Given the description of an element on the screen output the (x, y) to click on. 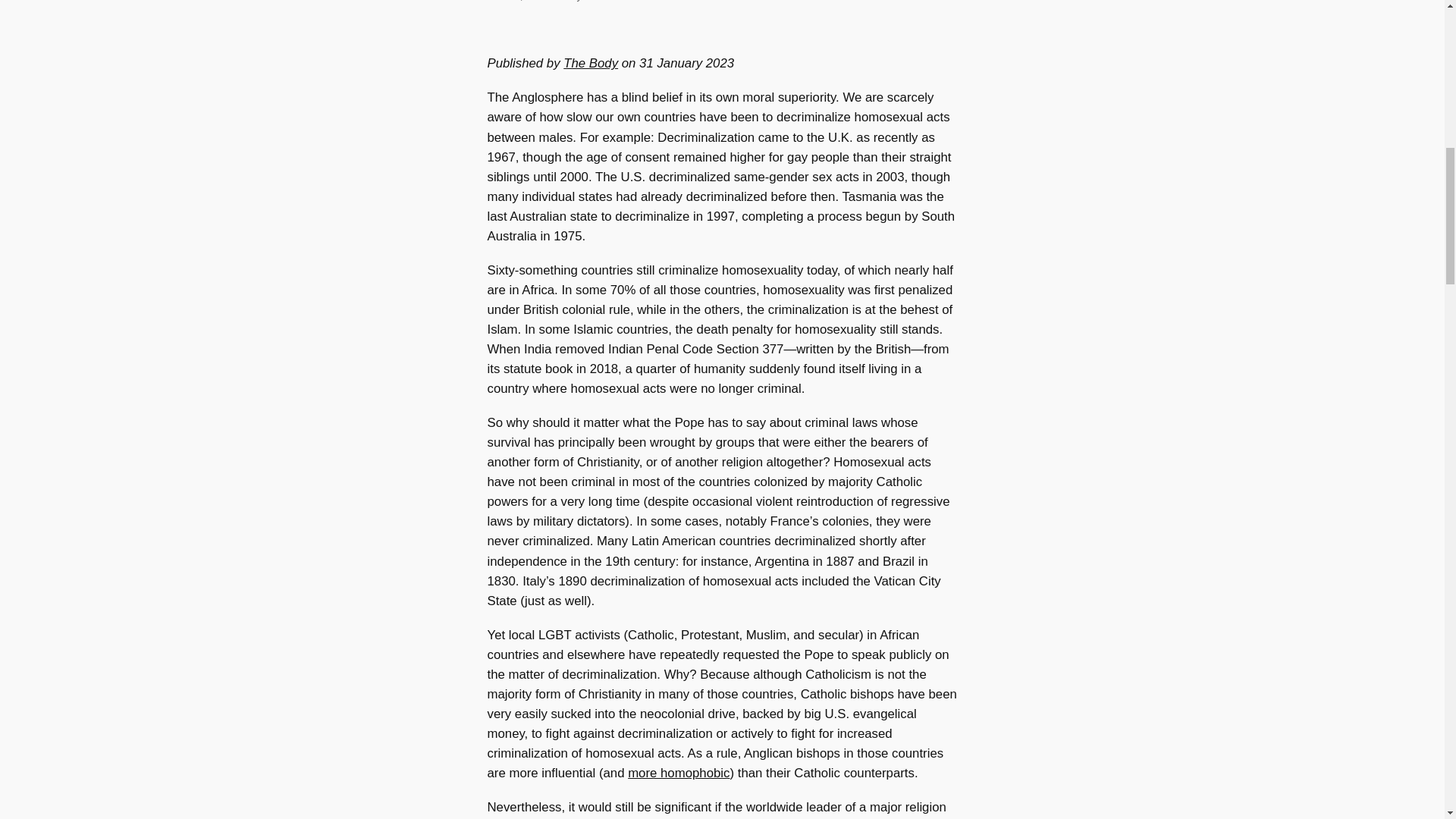
admin (600, 0)
Jan 31, 2023 (518, 0)
The Body (590, 63)
Texts (643, 0)
more homophobic (678, 772)
